Given the description of an element on the screen output the (x, y) to click on. 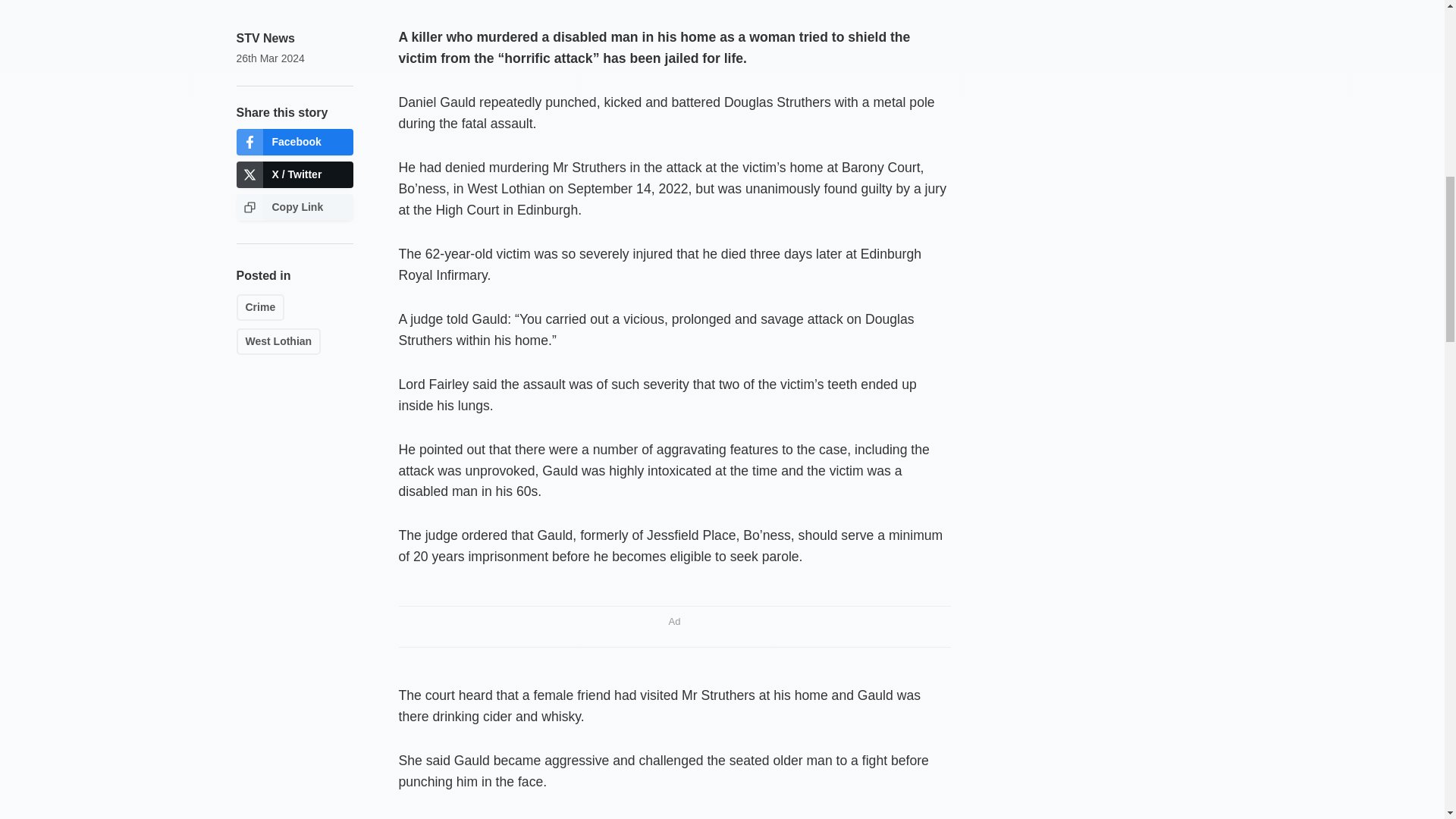
Facebook (294, 141)
